Given the description of an element on the screen output the (x, y) to click on. 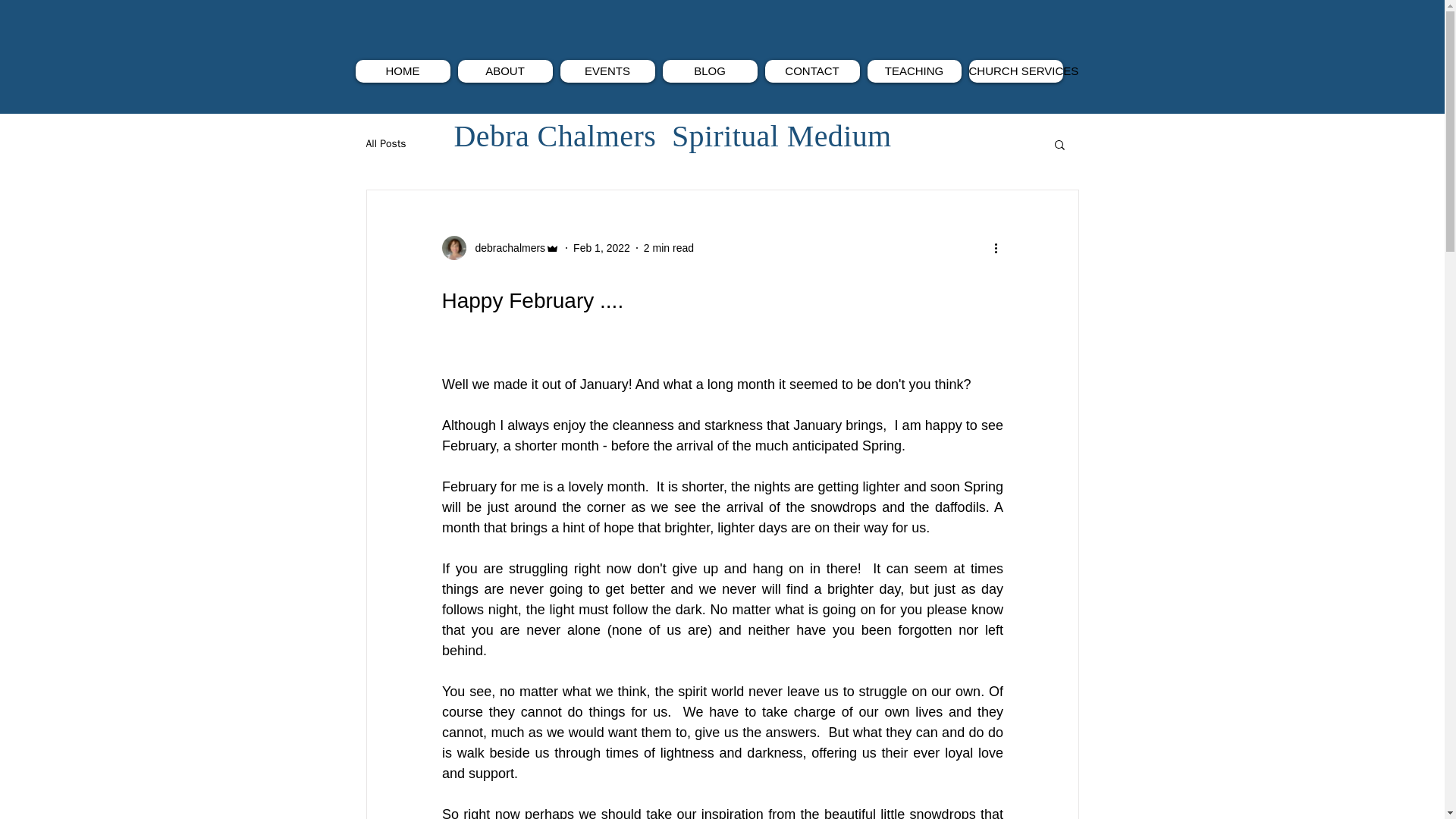
2 min read (668, 246)
debrachalmers (500, 247)
All Posts (385, 143)
Feb 1, 2022 (601, 246)
EVENTS (606, 70)
CONTACT (811, 70)
BLOG (709, 70)
HOME (402, 70)
debrachalmers (504, 247)
ABOUT (505, 70)
TEACHING (913, 70)
CHURCH SERVICES (1015, 70)
